Given the description of an element on the screen output the (x, y) to click on. 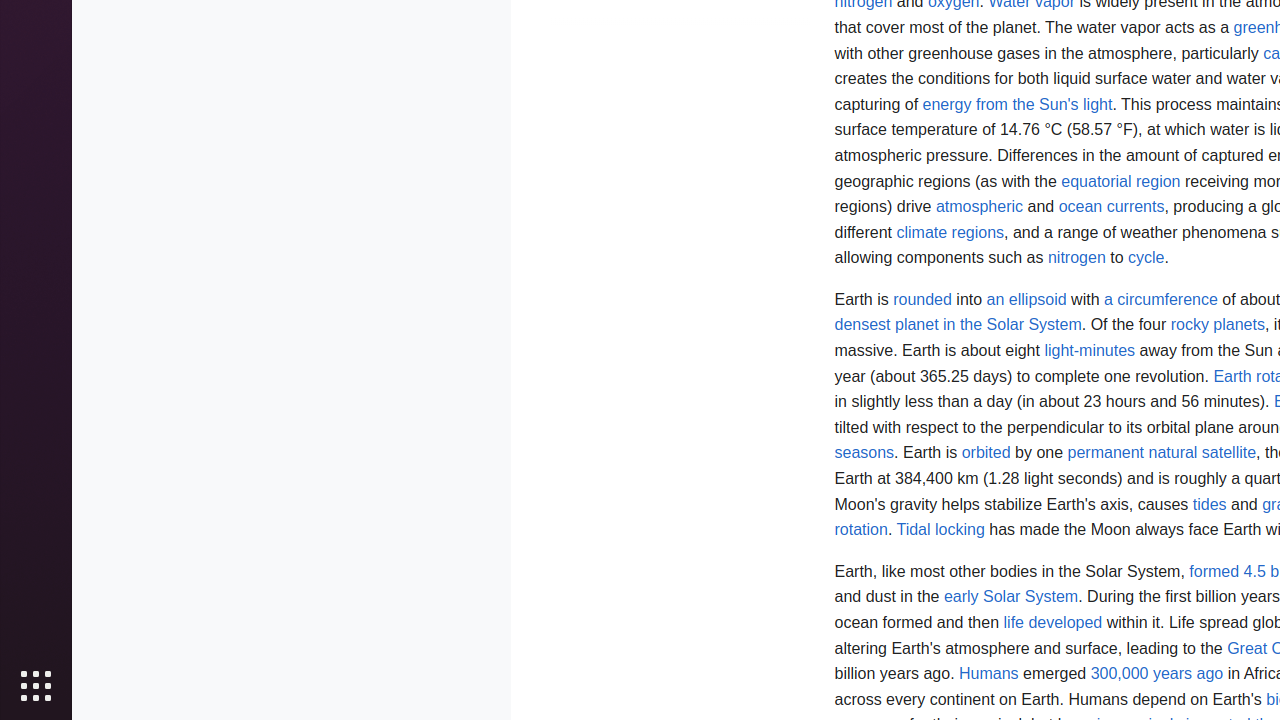
energy from the Sun's light Element type: link (1017, 104)
natural satellite Element type: link (1202, 453)
Tidal locking Element type: link (940, 530)
Humans Element type: link (989, 674)
climate regions Element type: link (950, 231)
